Given the description of an element on the screen output the (x, y) to click on. 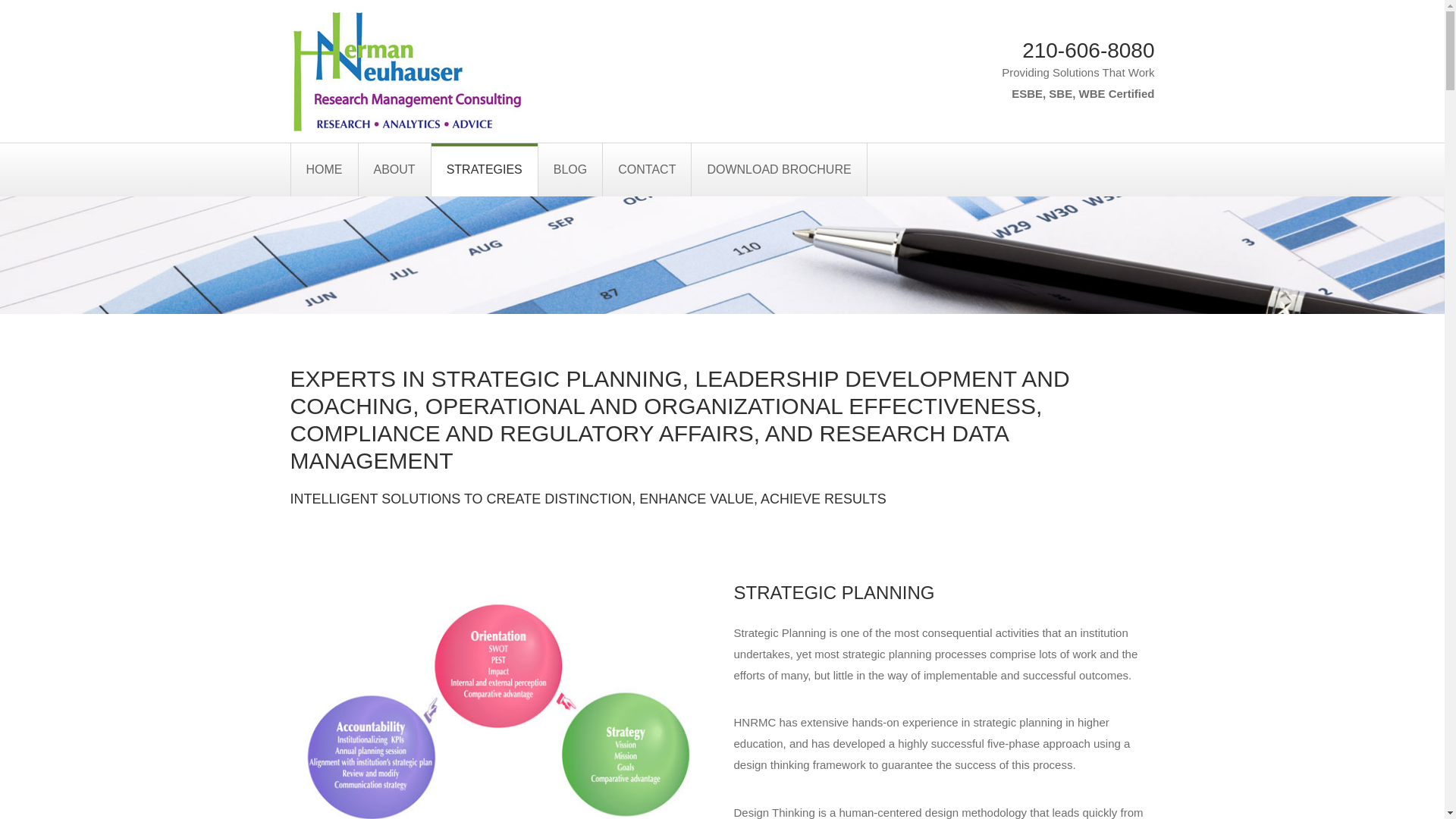
DOWNLOAD BROCHURE (778, 169)
ABOUT (394, 169)
CONTACT (646, 169)
STRATEGIES (484, 169)
BLOG (569, 169)
HOME (323, 169)
